Given the description of an element on the screen output the (x, y) to click on. 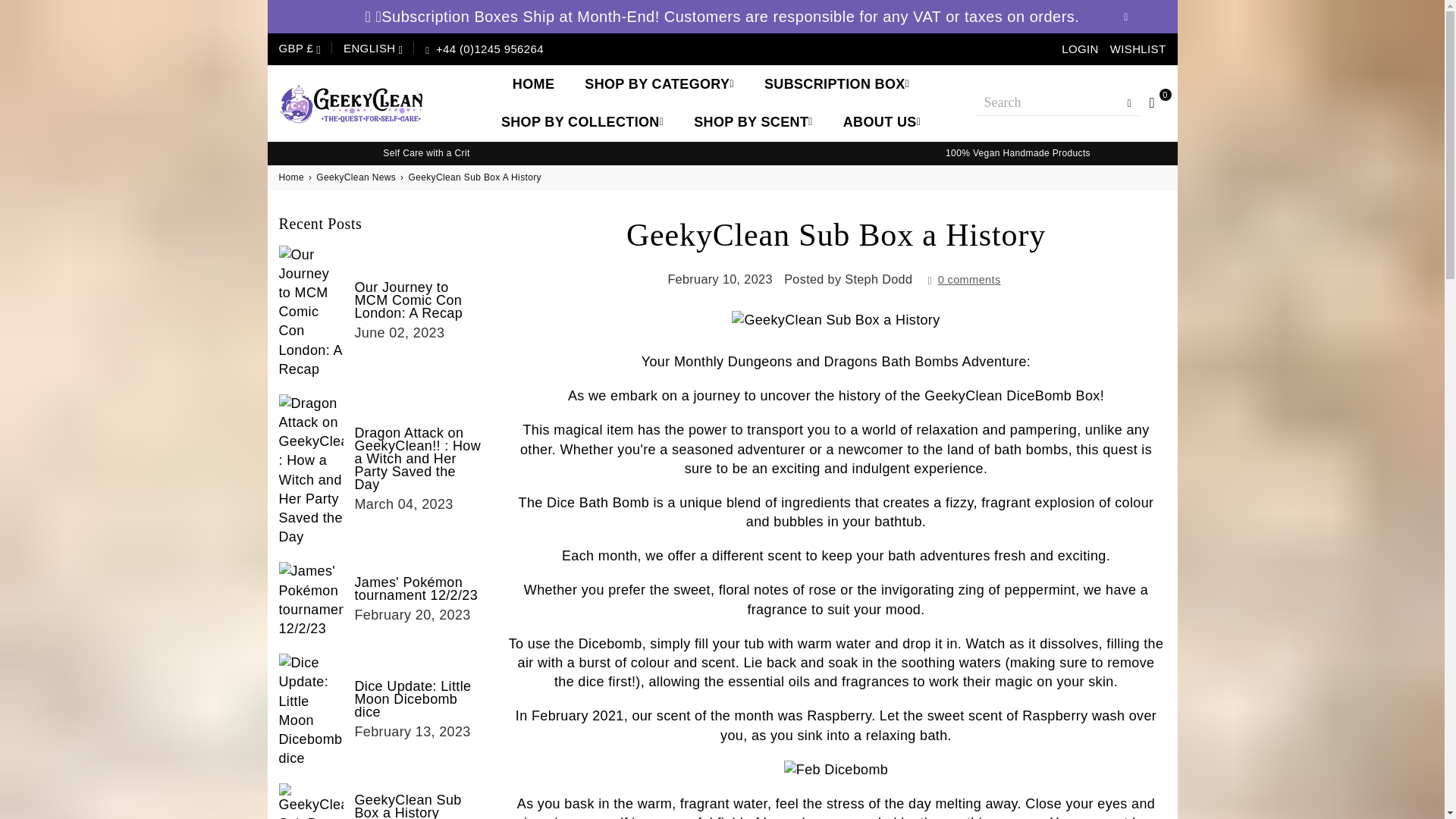
GEEKYCLEAN LTD (365, 103)
Back to the home page (292, 177)
WISHLIST (1137, 48)
SHOP BY SCENT (753, 121)
ENGLISH (372, 49)
SUBSCRIPTION BOX (836, 84)
HOME (533, 84)
Cart (1152, 101)
SHOP BY COLLECTION (582, 121)
SHOP BY CATEGORY (659, 84)
